Given the description of an element on the screen output the (x, y) to click on. 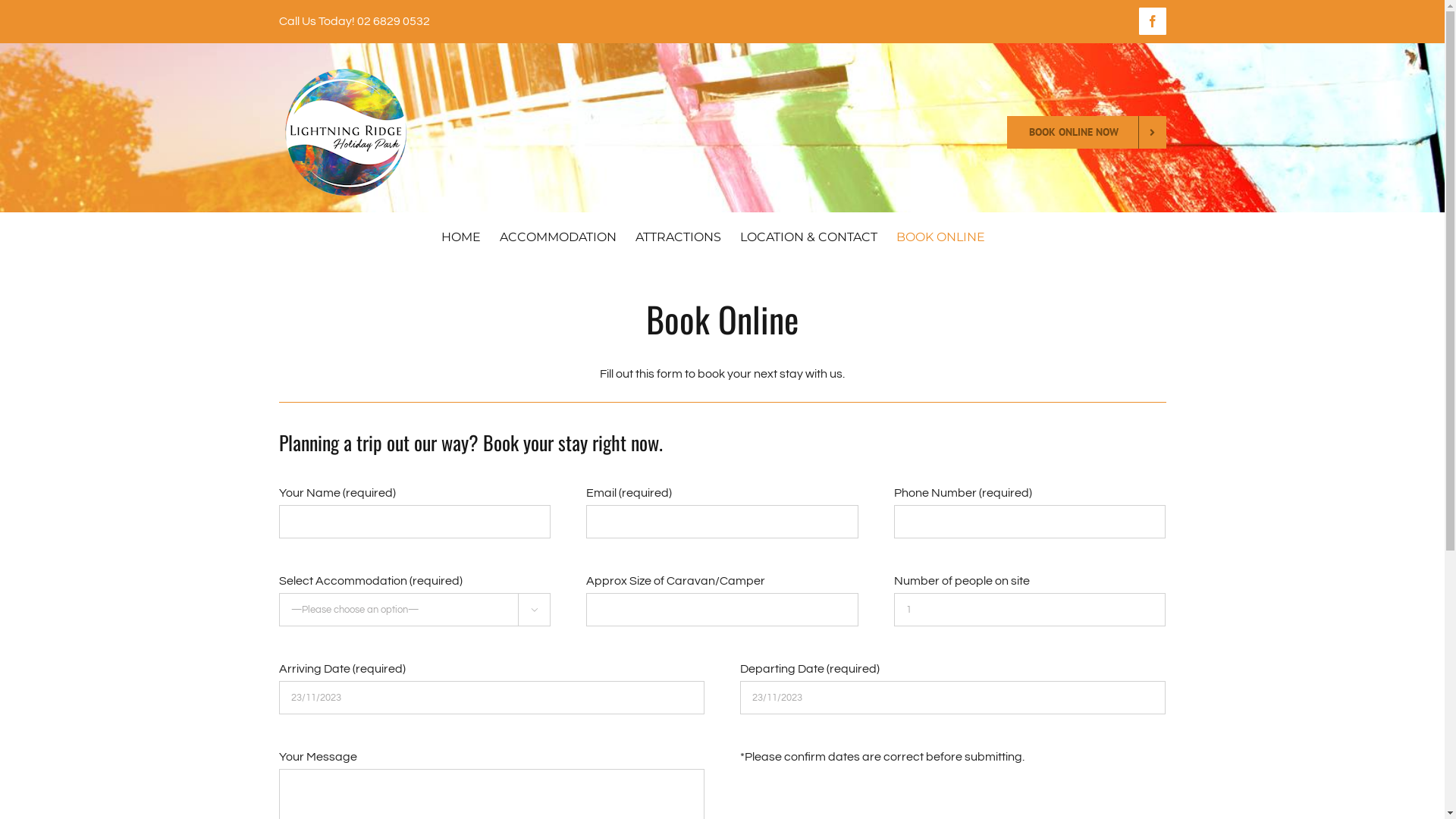
LOCATION & CONTACT Element type: text (808, 237)
02 6829 0532 Element type: text (392, 21)
BOOK ONLINE NOW Element type: text (1086, 132)
Facebook Element type: text (1152, 20)
ATTRACTIONS Element type: text (678, 237)
BOOK ONLINE Element type: text (940, 237)
ACCOMMODATION Element type: text (556, 237)
HOME Element type: text (460, 237)
